Given the description of an element on the screen output the (x, y) to click on. 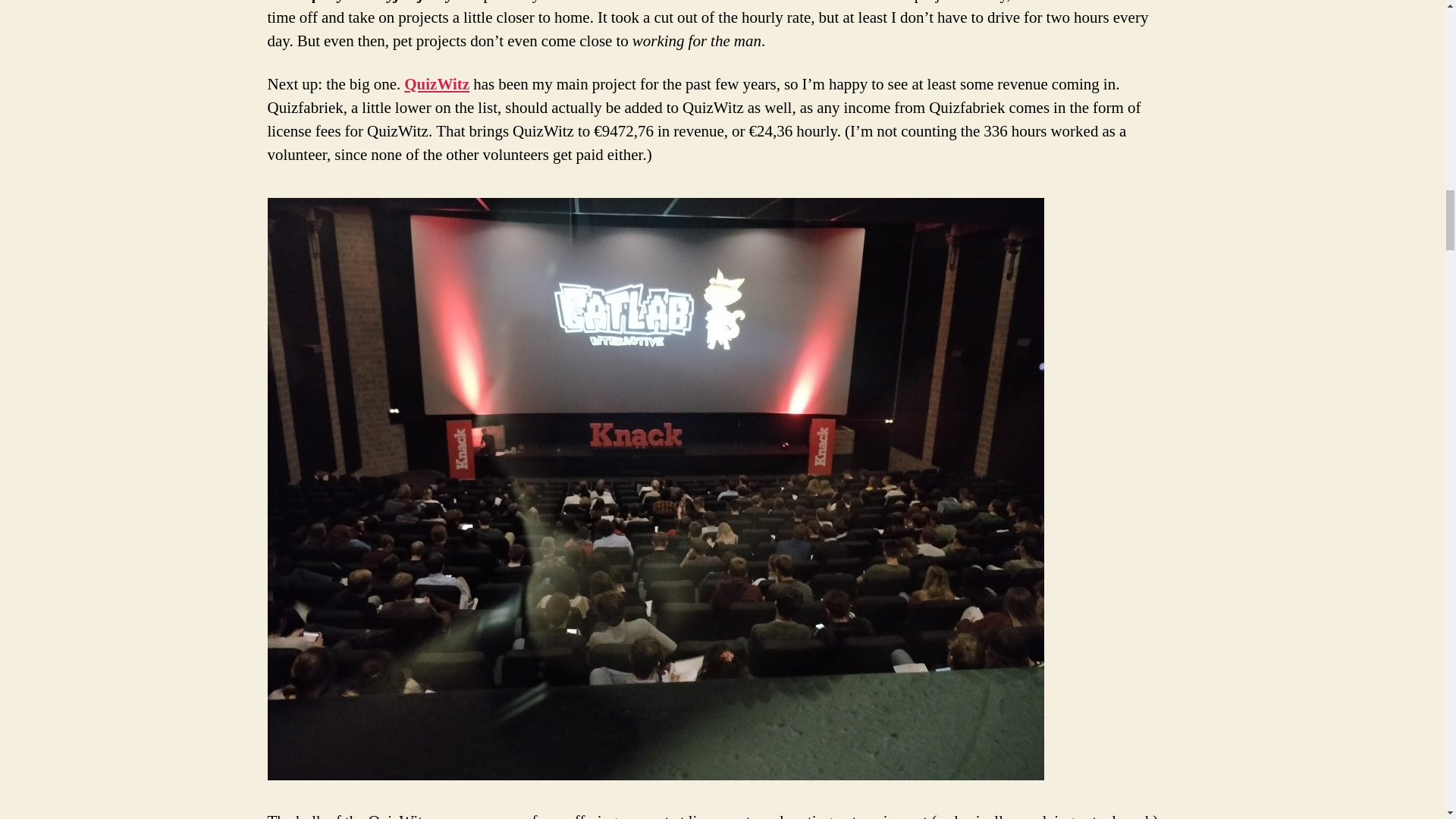
QuizWitz (436, 84)
